Given the description of an element on the screen output the (x, y) to click on. 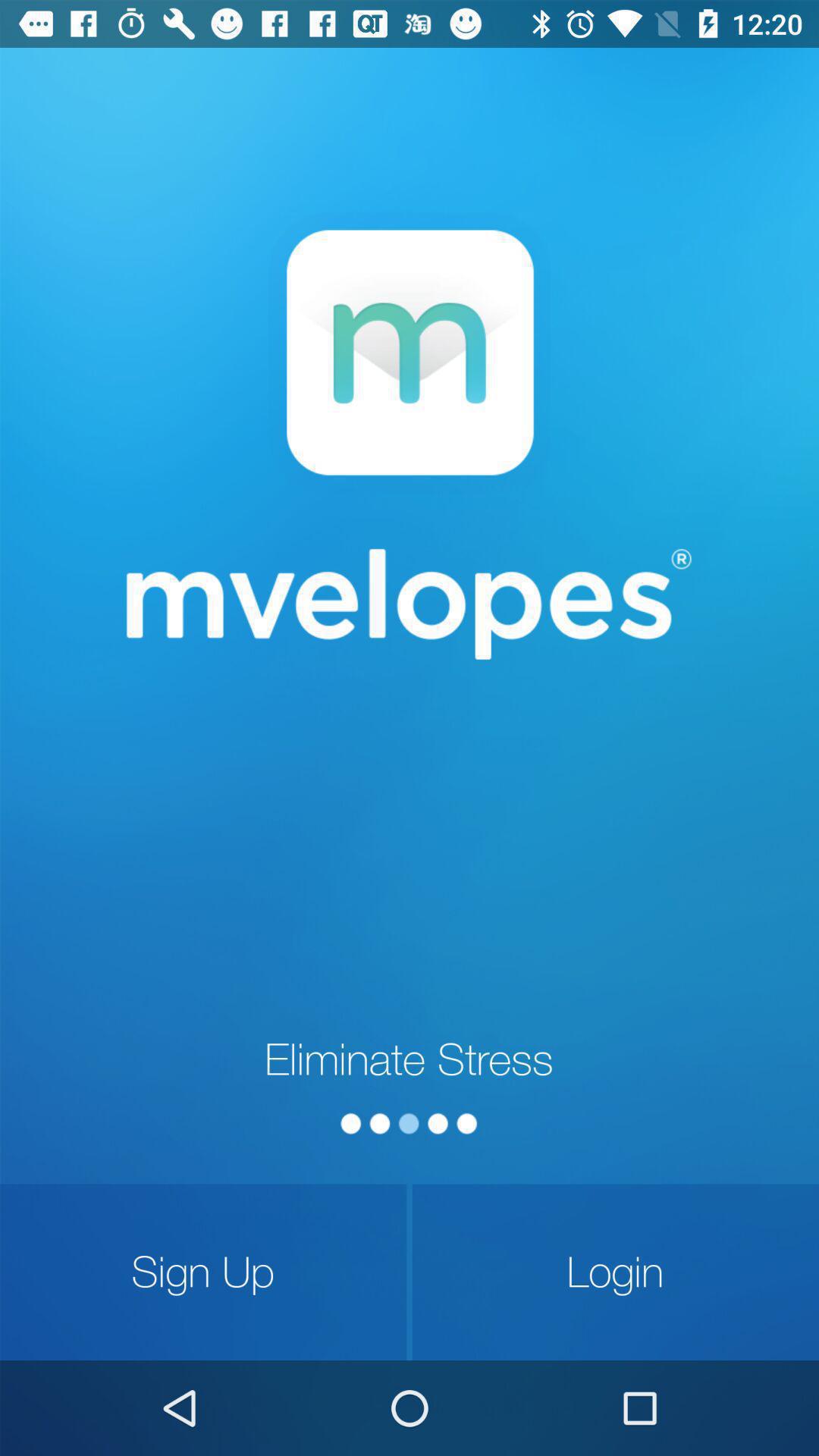
scroll until login (615, 1272)
